Given the description of an element on the screen output the (x, y) to click on. 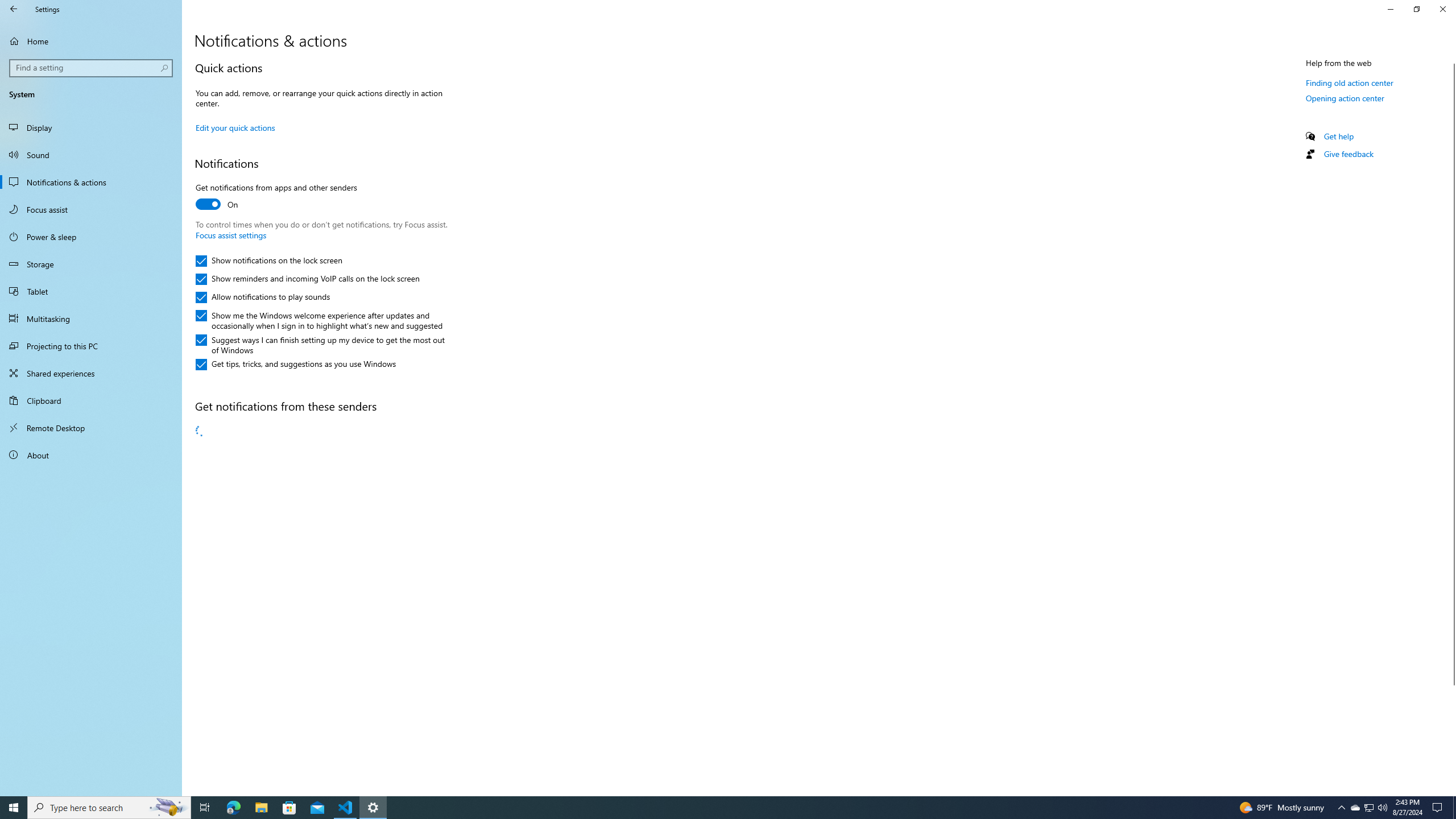
Opening action center (1345, 97)
Display (91, 126)
Sound (91, 154)
Running applications (717, 807)
Multitasking (91, 318)
Restore Settings (1416, 9)
Settings (319, 677)
Get help (1338, 136)
Minimize Settings (1390, 9)
Vertical Small Increase (1451, 791)
Weather (319, 495)
